Given the description of an element on the screen output the (x, y) to click on. 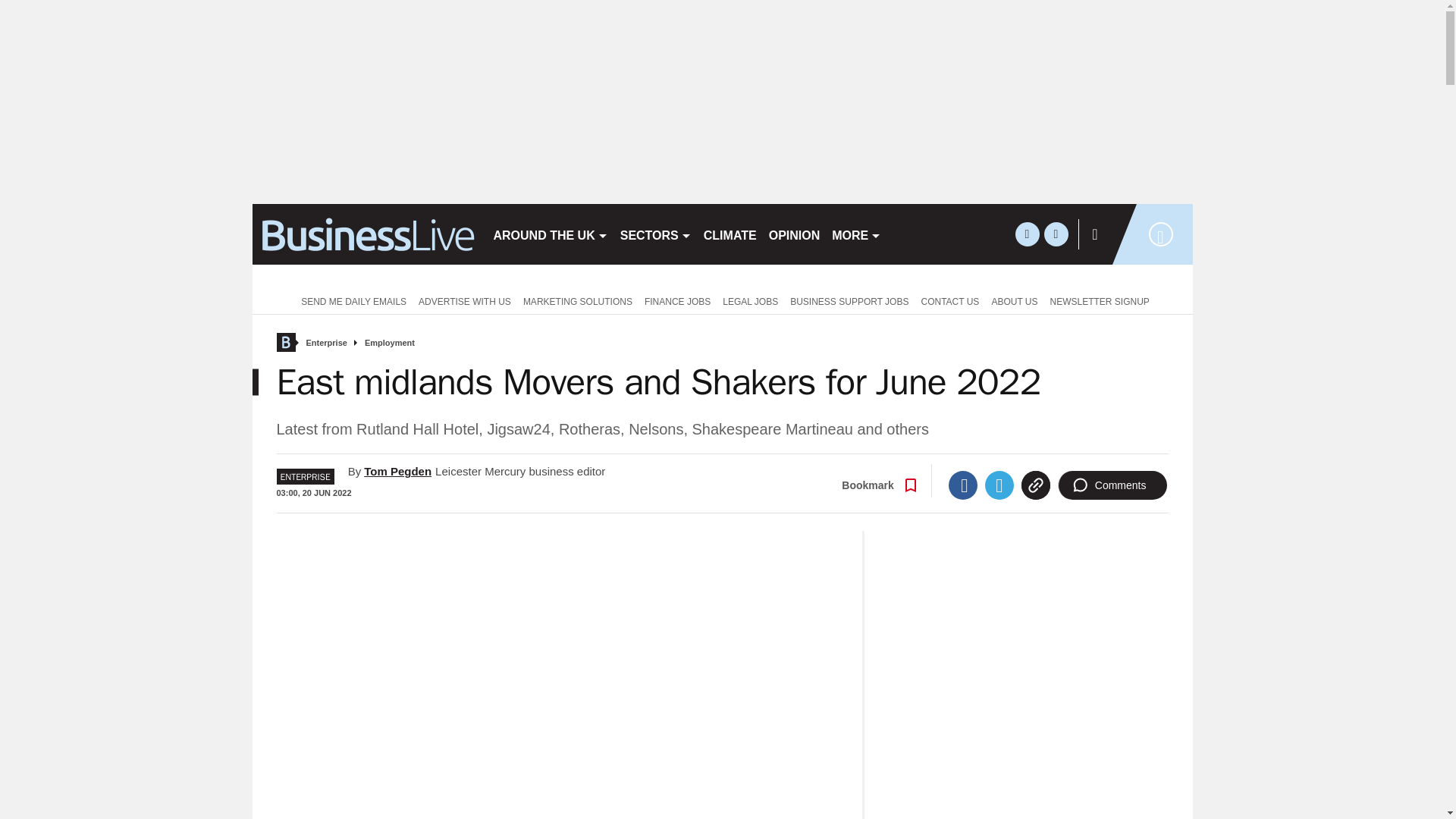
CLIMATE (729, 233)
birminghampost (365, 233)
SEND ME DAILY EMAILS (350, 300)
SECTORS (655, 233)
FINANCE JOBS (677, 300)
ADVERTISE WITH US (464, 300)
twitter (1026, 233)
OPINION (794, 233)
linkedin (1055, 233)
MARKETING SOLUTIONS (577, 300)
